Given the description of an element on the screen output the (x, y) to click on. 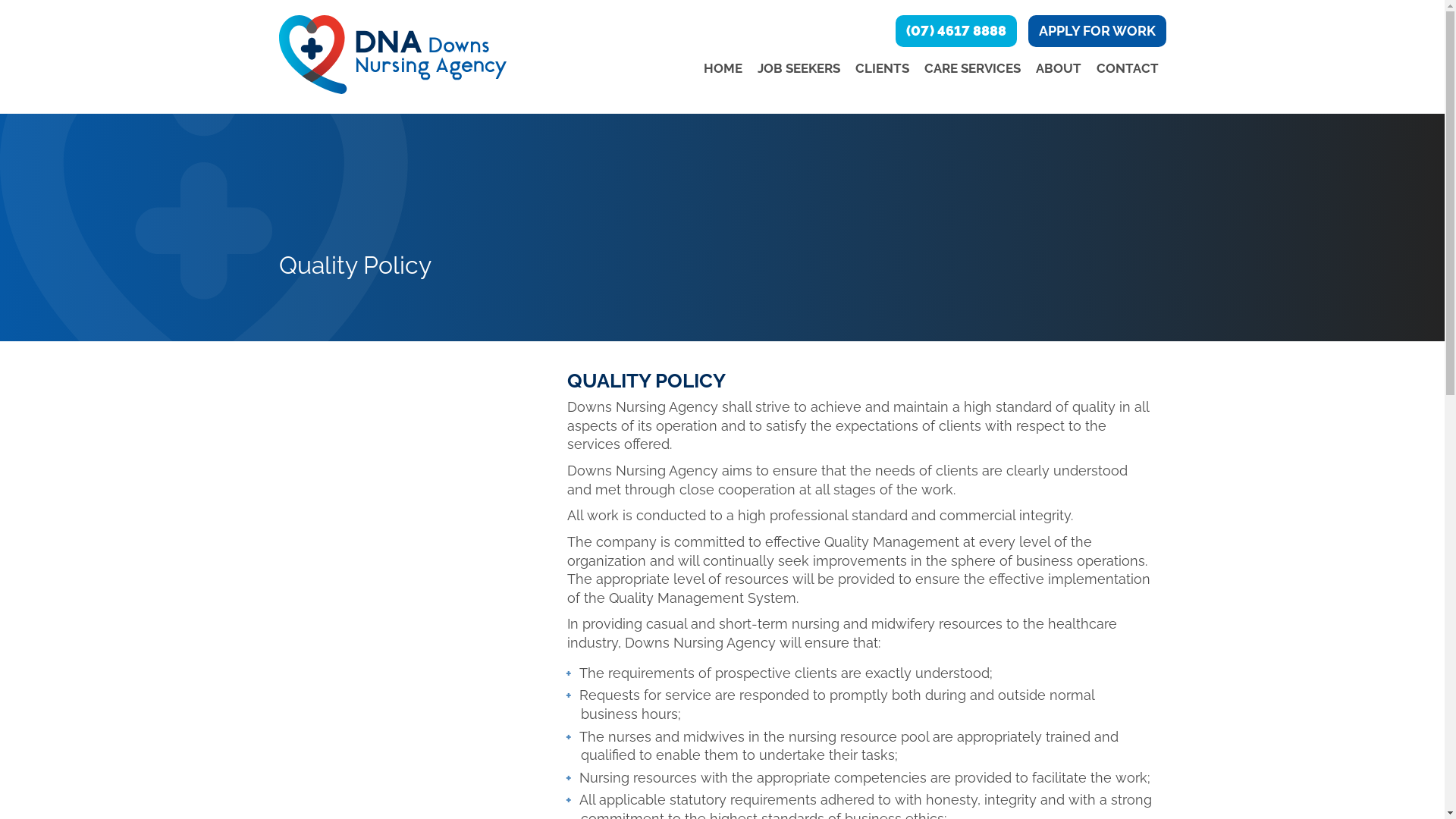
CONTACT Element type: text (1127, 68)
ABOUT Element type: text (1058, 68)
CARE SERVICES Element type: text (971, 68)
(07) 4617 8888 Element type: text (955, 31)
CLIENTS Element type: text (881, 68)
HOME Element type: text (722, 68)
APPLY FOR WORK Element type: text (1097, 31)
JOB SEEKERS Element type: text (798, 68)
